Given the description of an element on the screen output the (x, y) to click on. 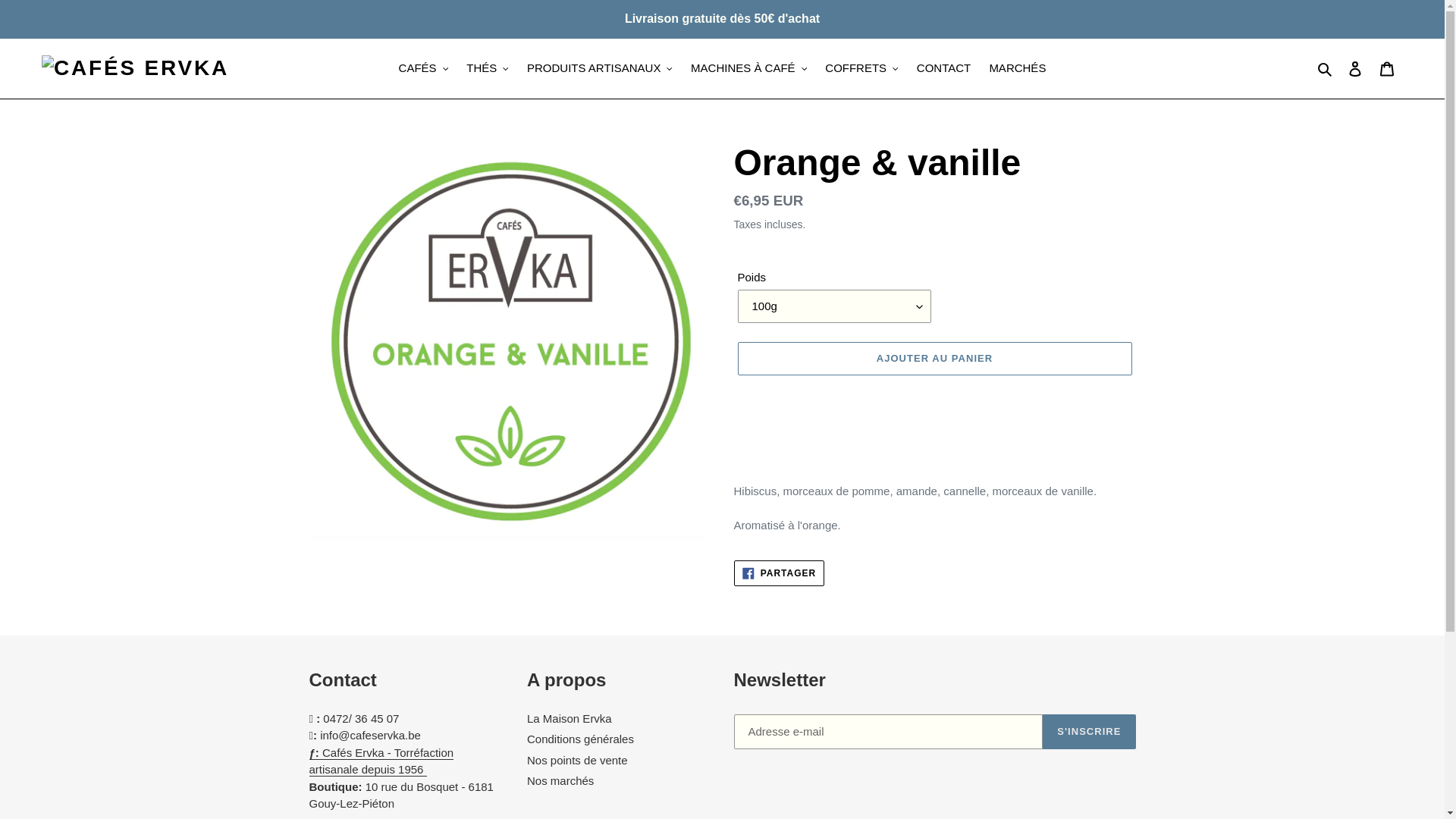
AJOUTER AU PANIER Element type: text (934, 358)
COFFRETS Element type: text (861, 68)
La Maison Ervka Element type: text (569, 718)
Rechercher Element type: text (1325, 68)
PRODUITS ARTISANAUX Element type: text (599, 68)
S'INSCRIRE Element type: text (1088, 731)
Nos points de vente Element type: text (577, 759)
Se connecter Element type: text (1355, 68)
CONTACT Element type: text (943, 68)
PARTAGER
PARTAGER SUR FACEBOOK Element type: text (779, 573)
Panier Element type: text (1386, 68)
